Given the description of an element on the screen output the (x, y) to click on. 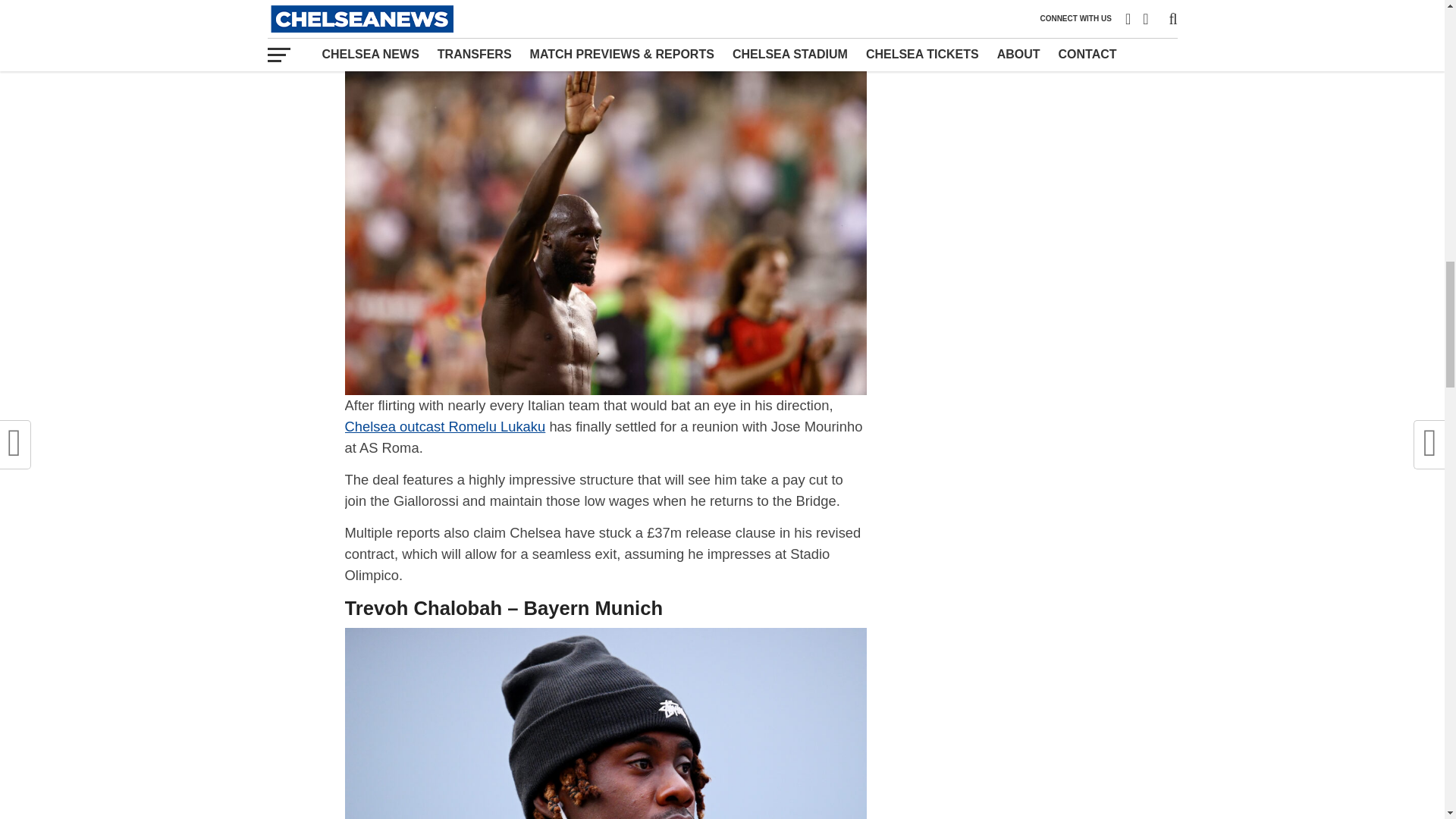
Chelsea outcast Romelu Lukaku (443, 426)
